Given the description of an element on the screen output the (x, y) to click on. 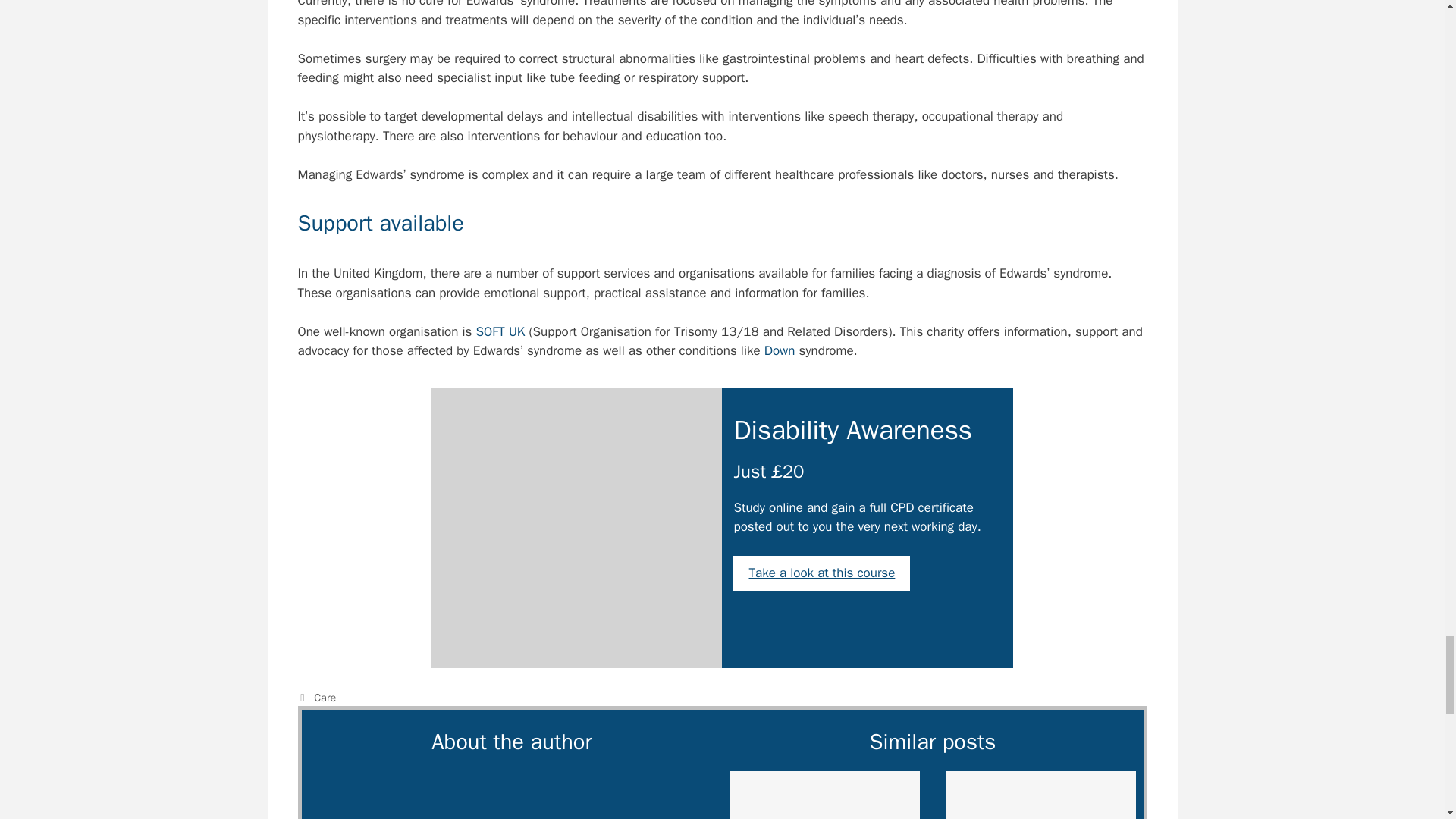
SOFT UK (500, 331)
Down (779, 350)
Care (325, 697)
Take a look at this course (821, 573)
